Given the description of an element on the screen output the (x, y) to click on. 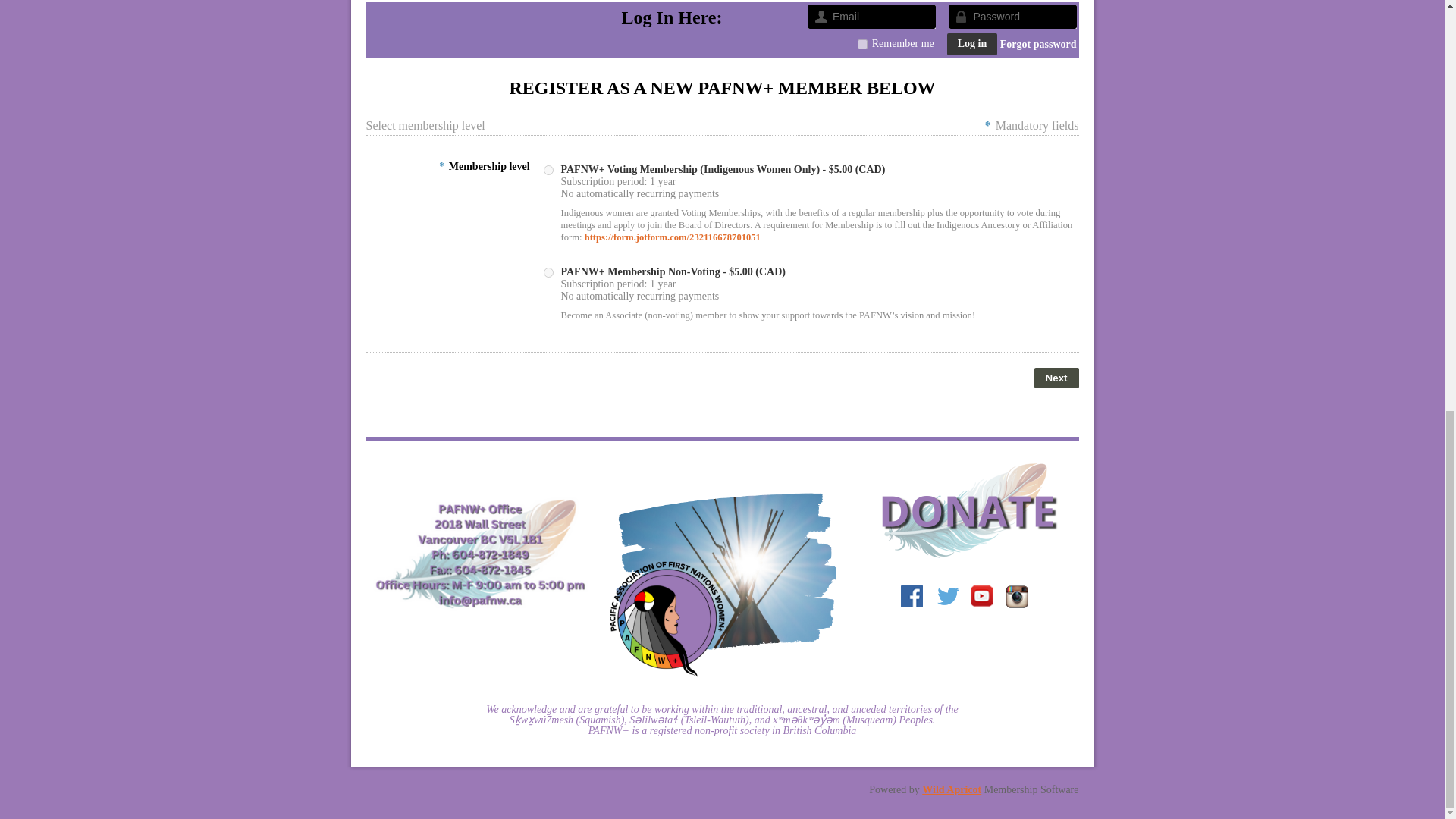
Log in (972, 44)
on (862, 44)
Log in (972, 44)
Forgot password (1038, 43)
Wild Apricot (951, 789)
Next (1055, 377)
Facebook (912, 597)
Twitter (947, 597)
Instagram (1016, 597)
YouTube (981, 597)
Next (1055, 377)
